Given the description of an element on the screen output the (x, y) to click on. 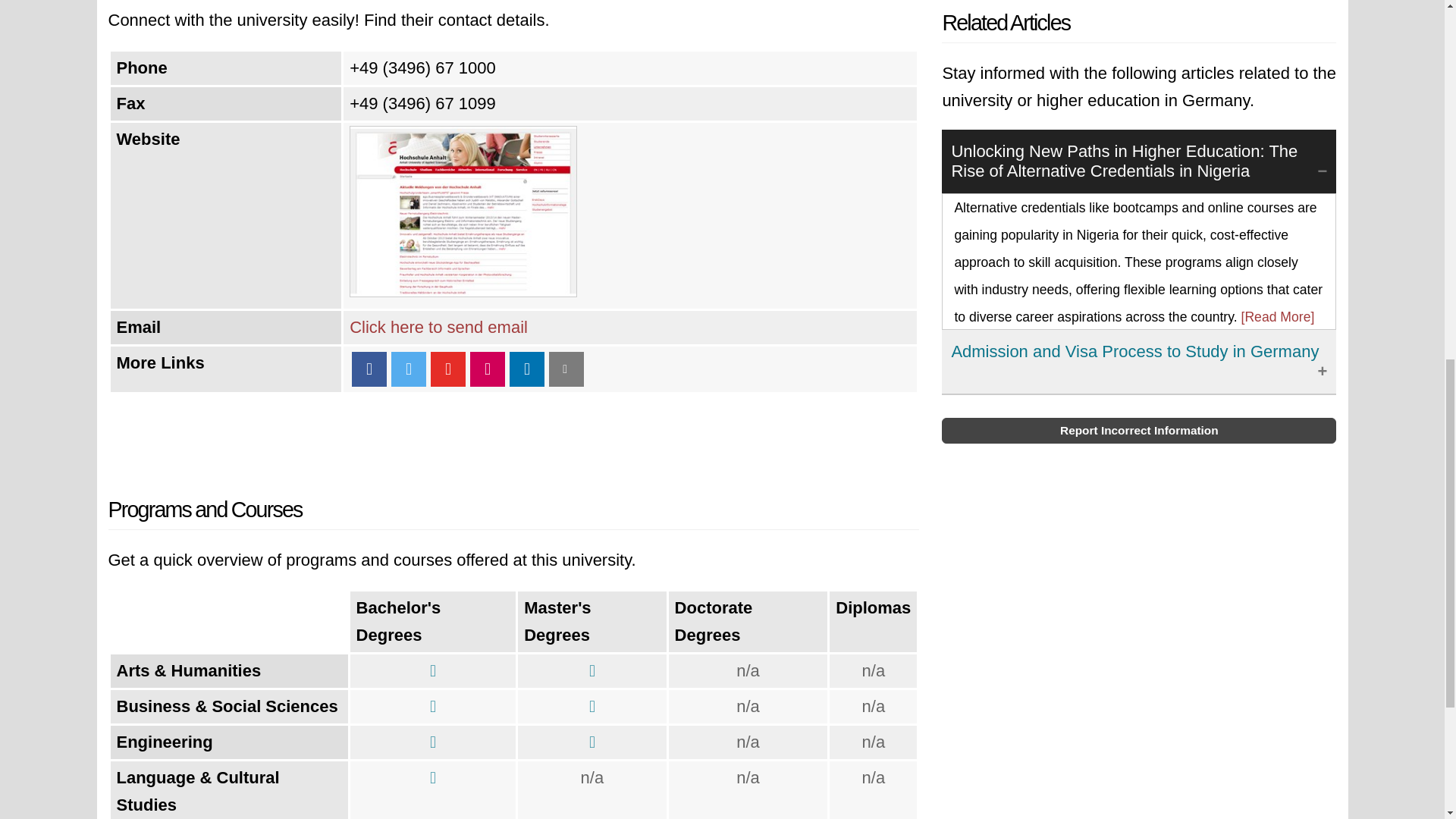
Admission and Visa Process to Study in Germany (1139, 361)
Click here to send email (438, 326)
Report Incorrect Information (1139, 430)
Anhalt University of Applied Sciences Website (462, 291)
Send an email to Anhalt University of Applied Sciences (438, 326)
